Given the description of an element on the screen output the (x, y) to click on. 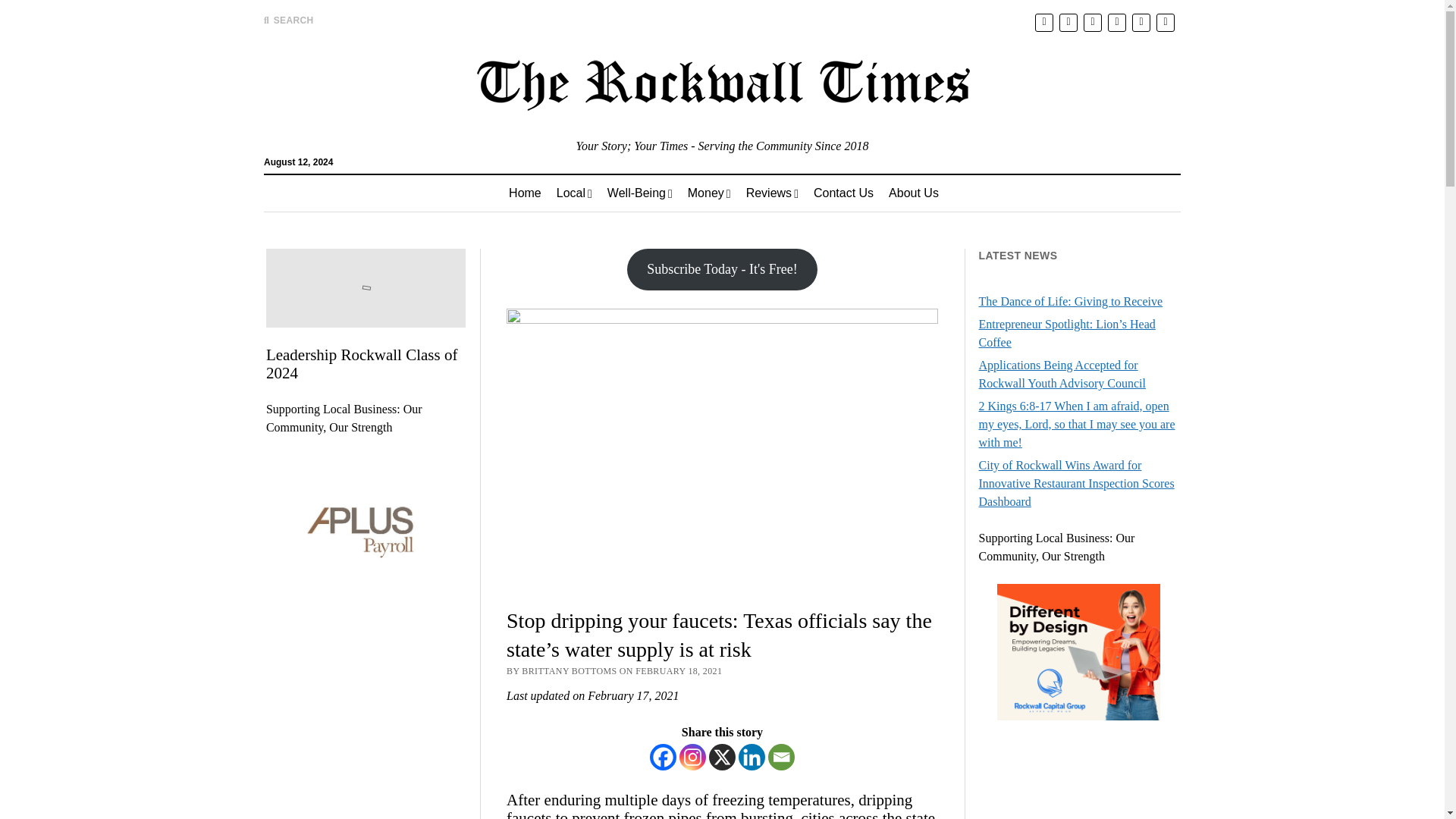
Well-Being (639, 193)
Facebook (663, 756)
About Us (913, 193)
Reviews (772, 193)
X (722, 756)
Home (524, 193)
Local (574, 193)
Linkedin (751, 756)
Email (781, 756)
Instagram (692, 756)
